Given the description of an element on the screen output the (x, y) to click on. 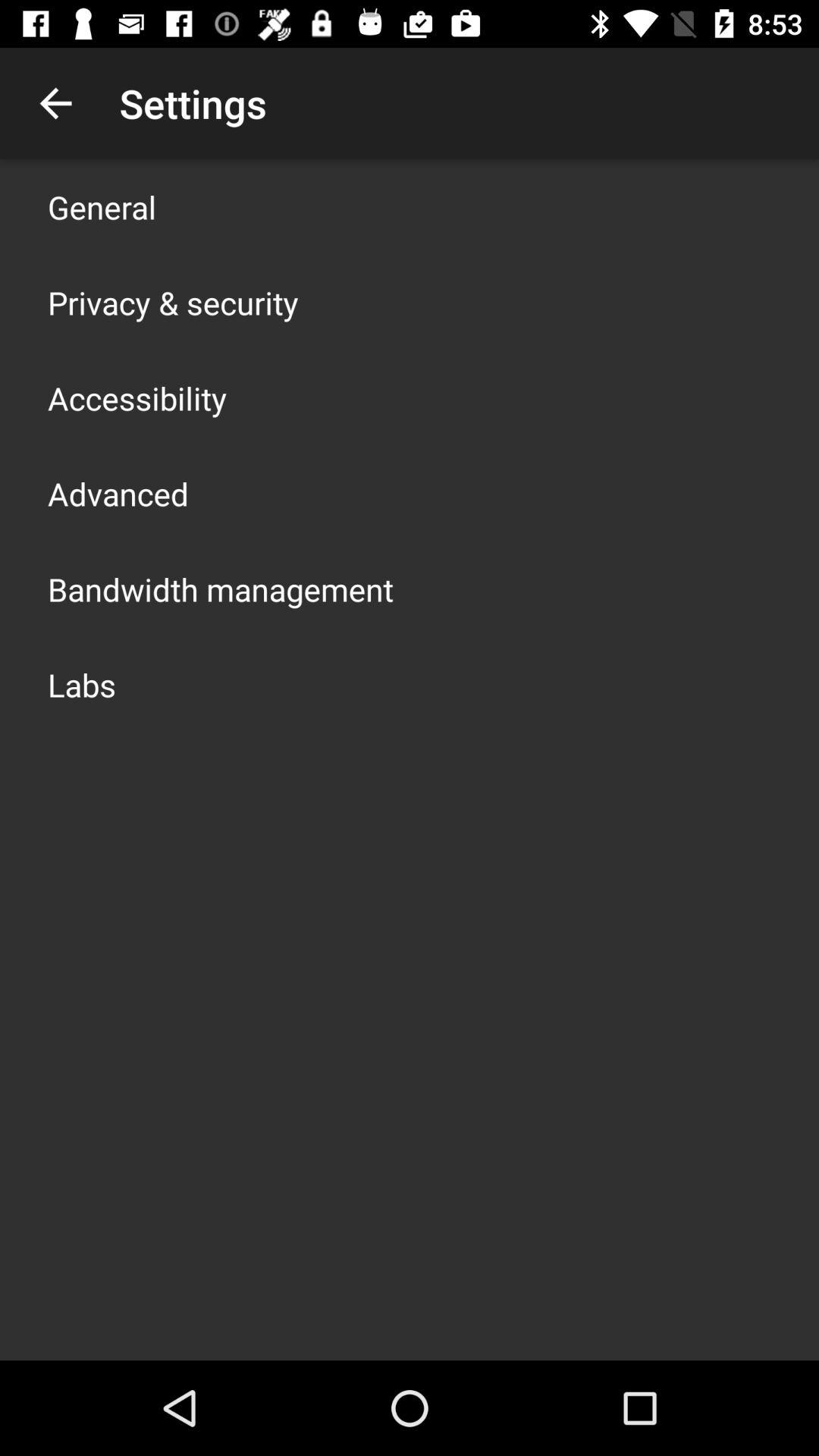
choose the item below the accessibility icon (117, 493)
